Given the description of an element on the screen output the (x, y) to click on. 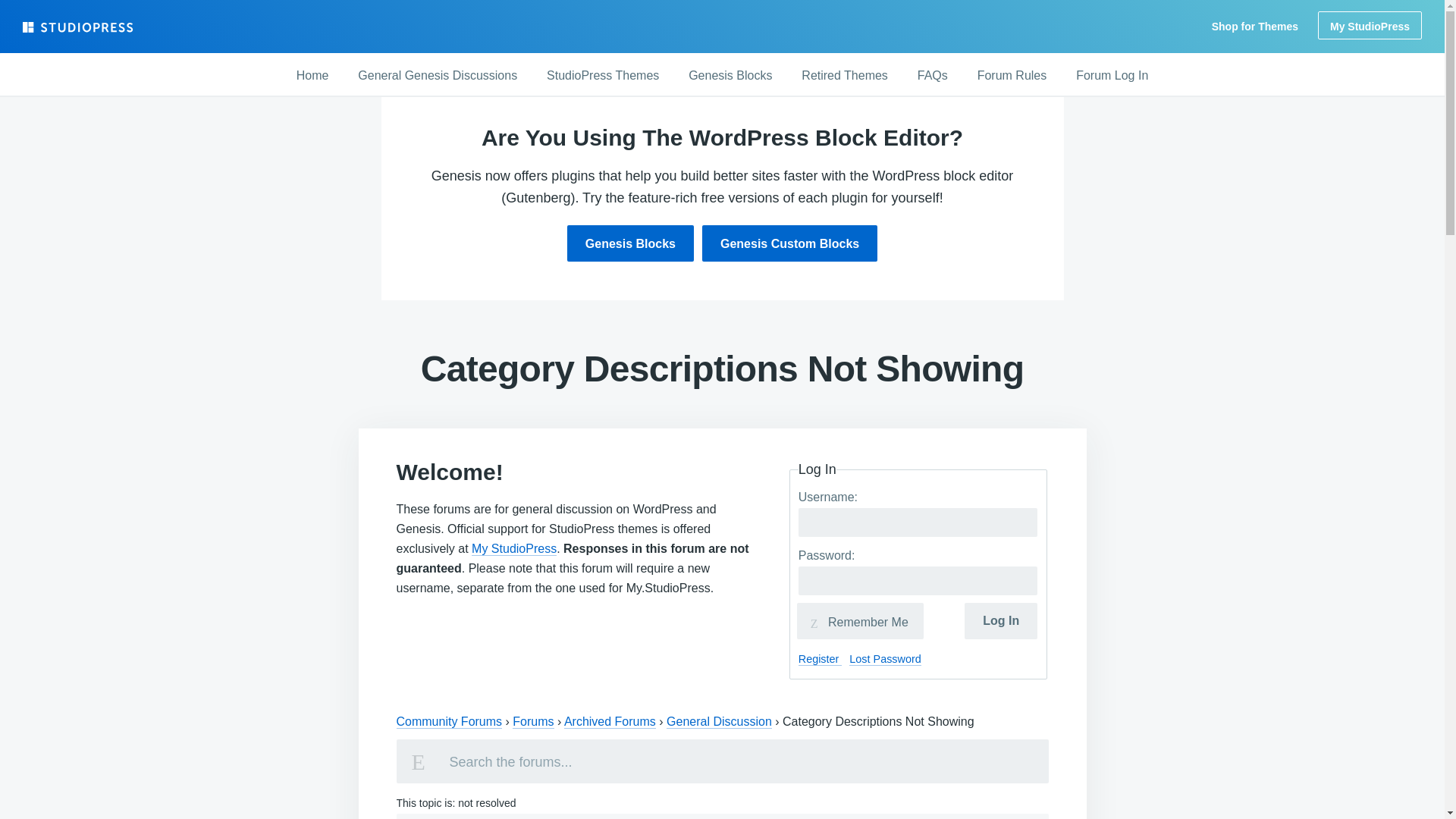
My StudioPress (1369, 25)
Home (312, 75)
Archived Forums (610, 721)
General Genesis Discussions (437, 75)
Genesis Blocks (630, 242)
Retired Themes (844, 75)
StudioPress.com (79, 27)
Community Forums (449, 721)
FAQs (932, 75)
